Given the description of an element on the screen output the (x, y) to click on. 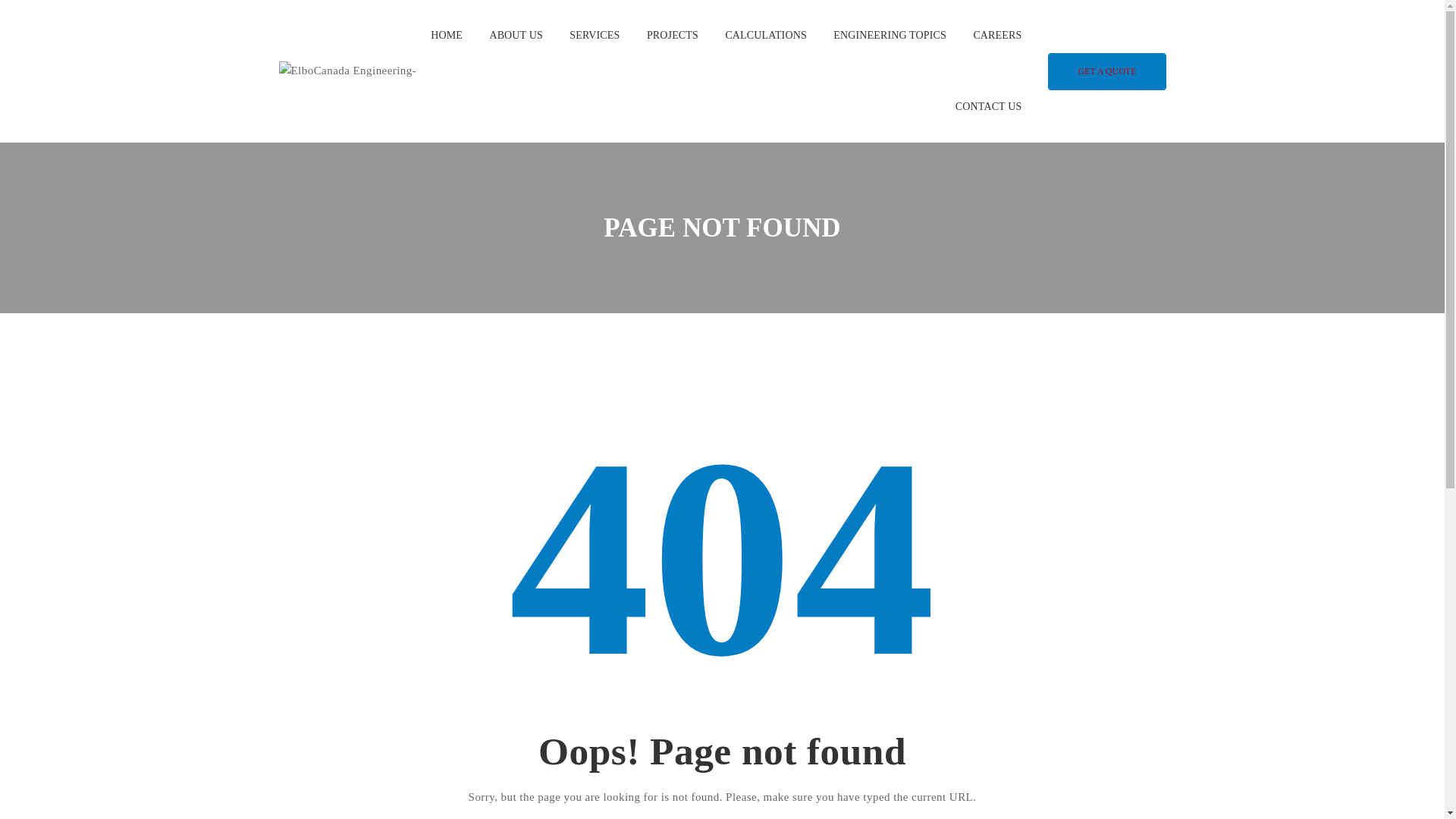
PROJECTS (672, 35)
SERVICES (594, 35)
ABOUT US (515, 35)
CONTACT US (988, 106)
HOME (446, 35)
ENGINEERING TOPICS (889, 35)
CALCULATIONS (765, 35)
GET A QUOTE (1107, 71)
CAREERS (997, 35)
ElboCanada Engineering- (347, 69)
